Given the description of an element on the screen output the (x, y) to click on. 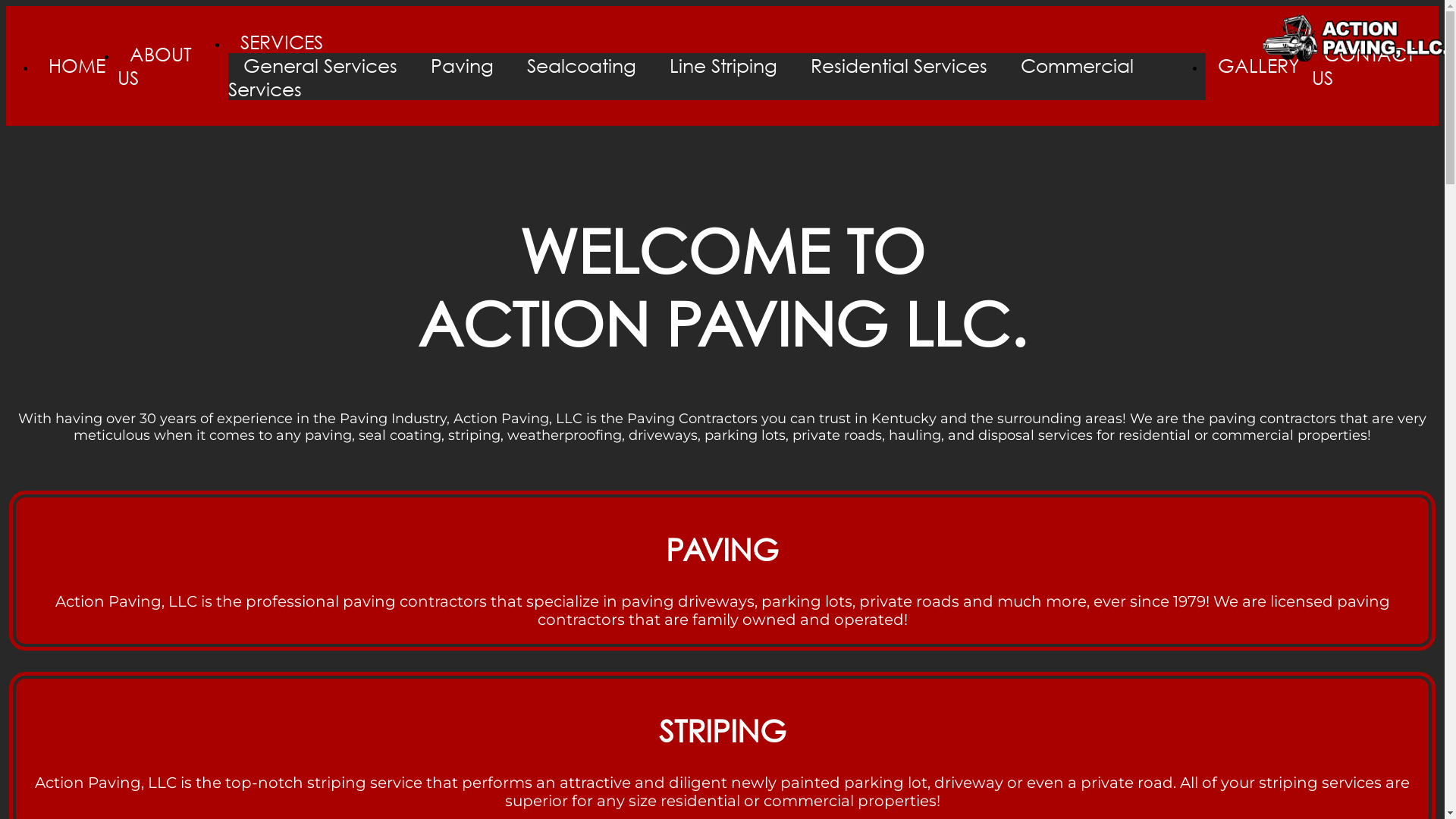
Residential Services Element type: text (898, 64)
HOME Element type: text (76, 64)
CONTACT US Element type: text (1363, 64)
Paving Element type: text (461, 64)
General Services Element type: text (320, 64)
Sealcoating Element type: text (581, 64)
Commercial Services Element type: text (680, 76)
Line Striping Element type: text (723, 64)
GALLERY Element type: text (1258, 64)
ABOUT US Element type: text (154, 64)
SERVICES Element type: text (281, 41)
